Given the description of an element on the screen output the (x, y) to click on. 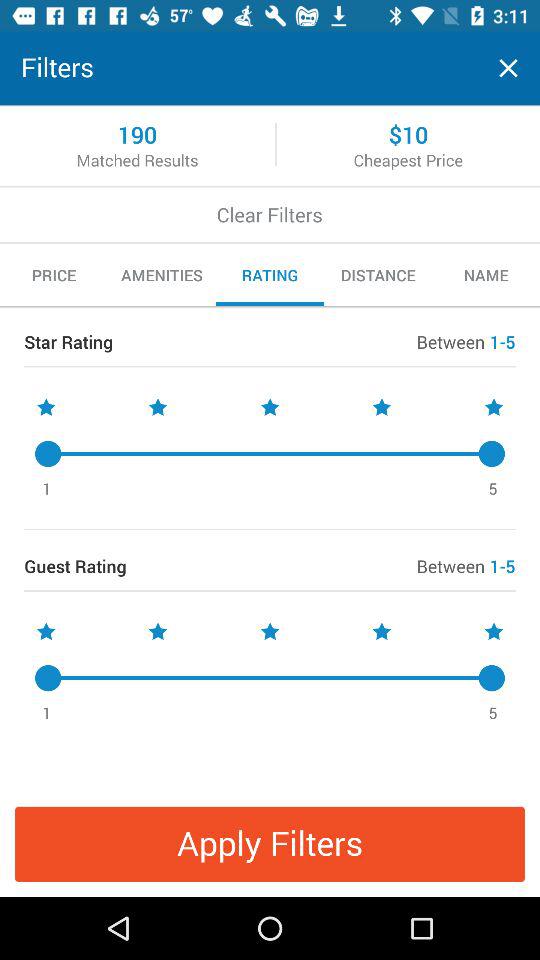
choose the item next to rating item (162, 275)
